Given the description of an element on the screen output the (x, y) to click on. 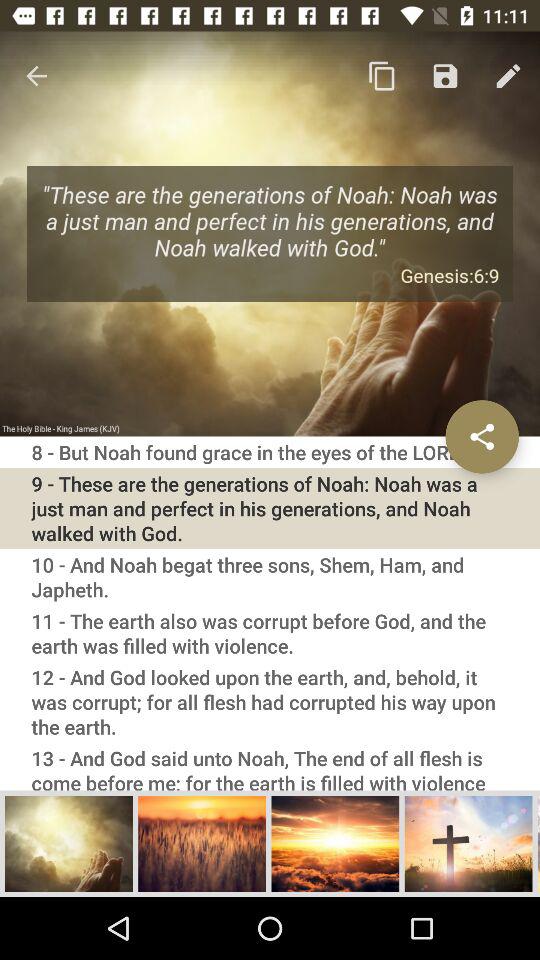
share on social networks (482, 436)
